Given the description of an element on the screen output the (x, y) to click on. 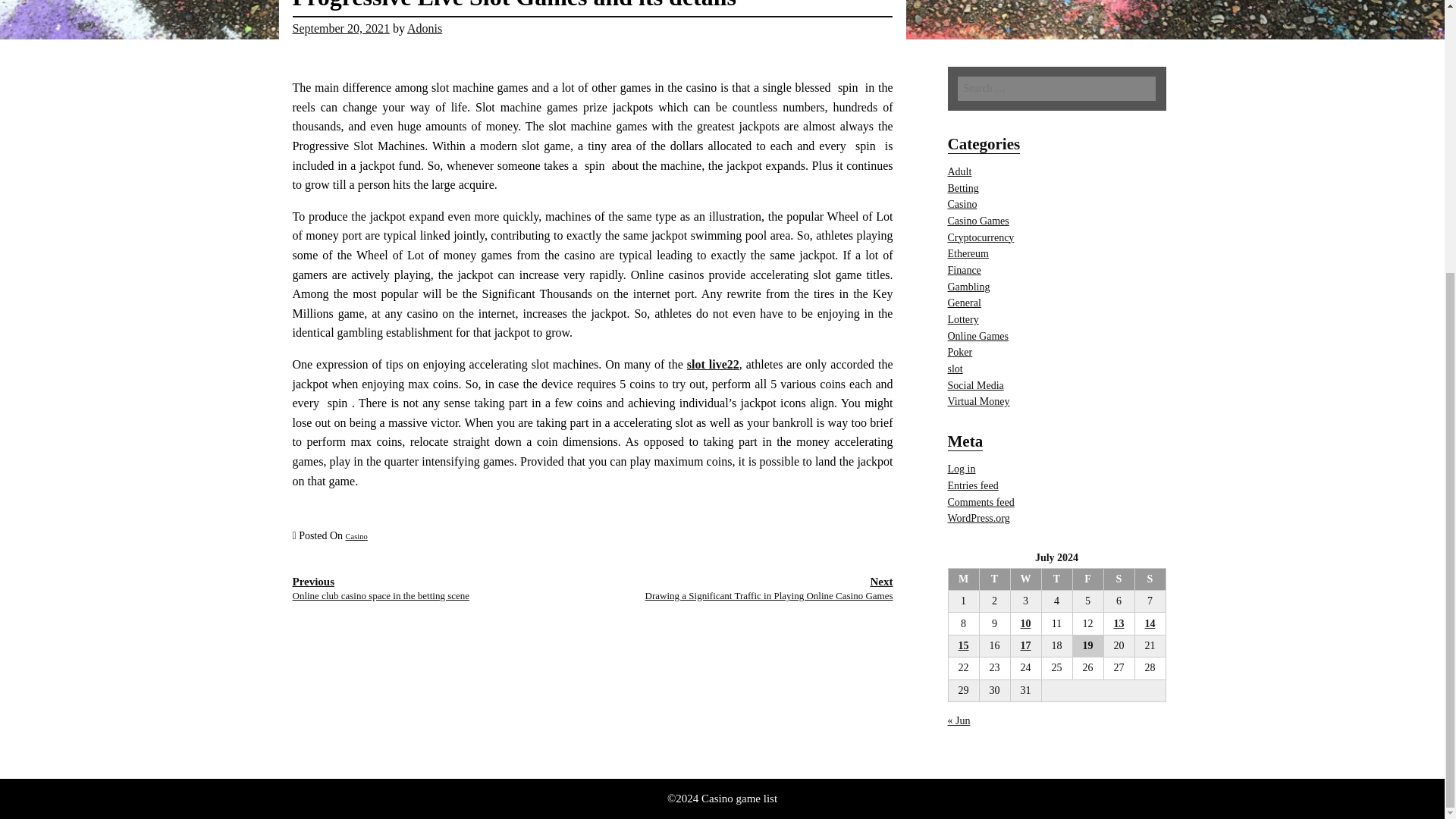
Adult (959, 171)
Gambling (968, 286)
September 20, 2021 (341, 28)
Poker (959, 351)
Entries feed (972, 485)
17 (1025, 645)
slot live22 (713, 364)
Adonis (424, 28)
General (964, 302)
Saturday (1118, 578)
15 (963, 645)
WordPress.org (978, 518)
Finance (964, 270)
14 (1150, 623)
